Given the description of an element on the screen output the (x, y) to click on. 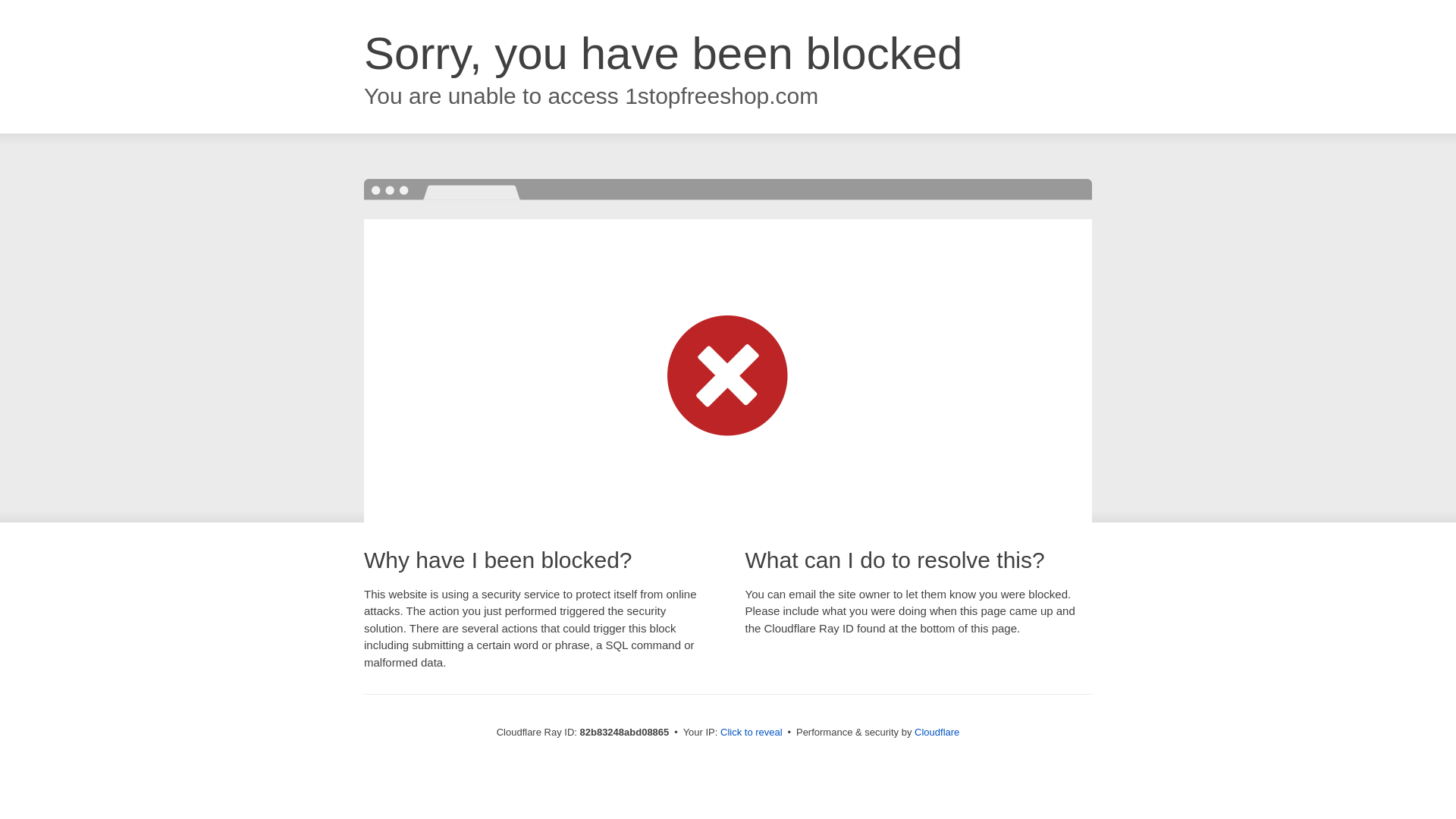
Click to reveal Element type: text (751, 732)
Cloudflare Element type: text (936, 731)
